Given the description of an element on the screen output the (x, y) to click on. 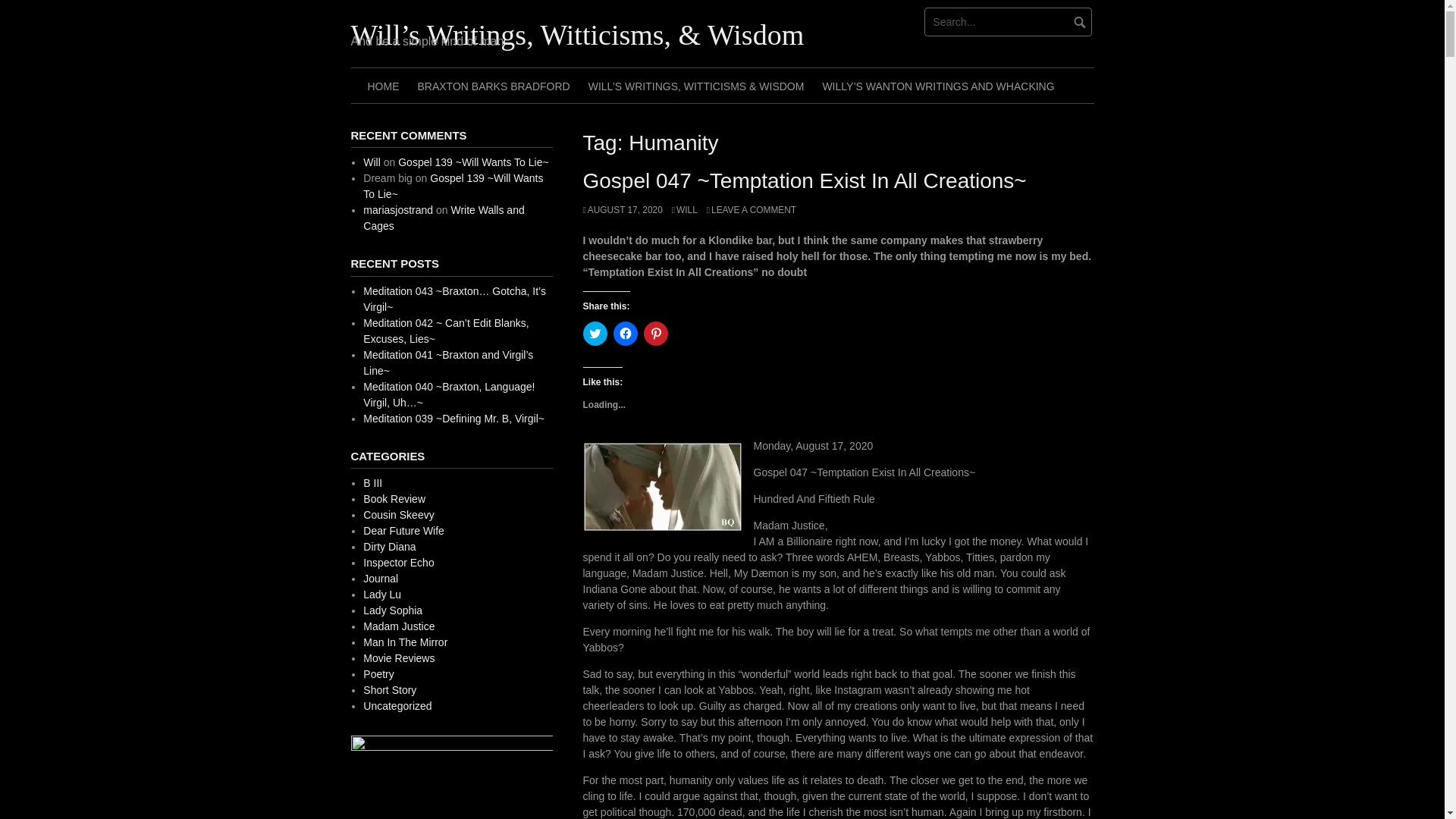
BRAXTON BARKS BRADFORD (492, 85)
Click to share on Pinterest (654, 333)
HOME (382, 85)
WILL (684, 209)
Search for: (1008, 21)
Click to share on Facebook (624, 333)
AUGUST 17, 2020 (622, 209)
LEAVE A COMMENT (751, 209)
Click to share on Twitter (594, 333)
